Given the description of an element on the screen output the (x, y) to click on. 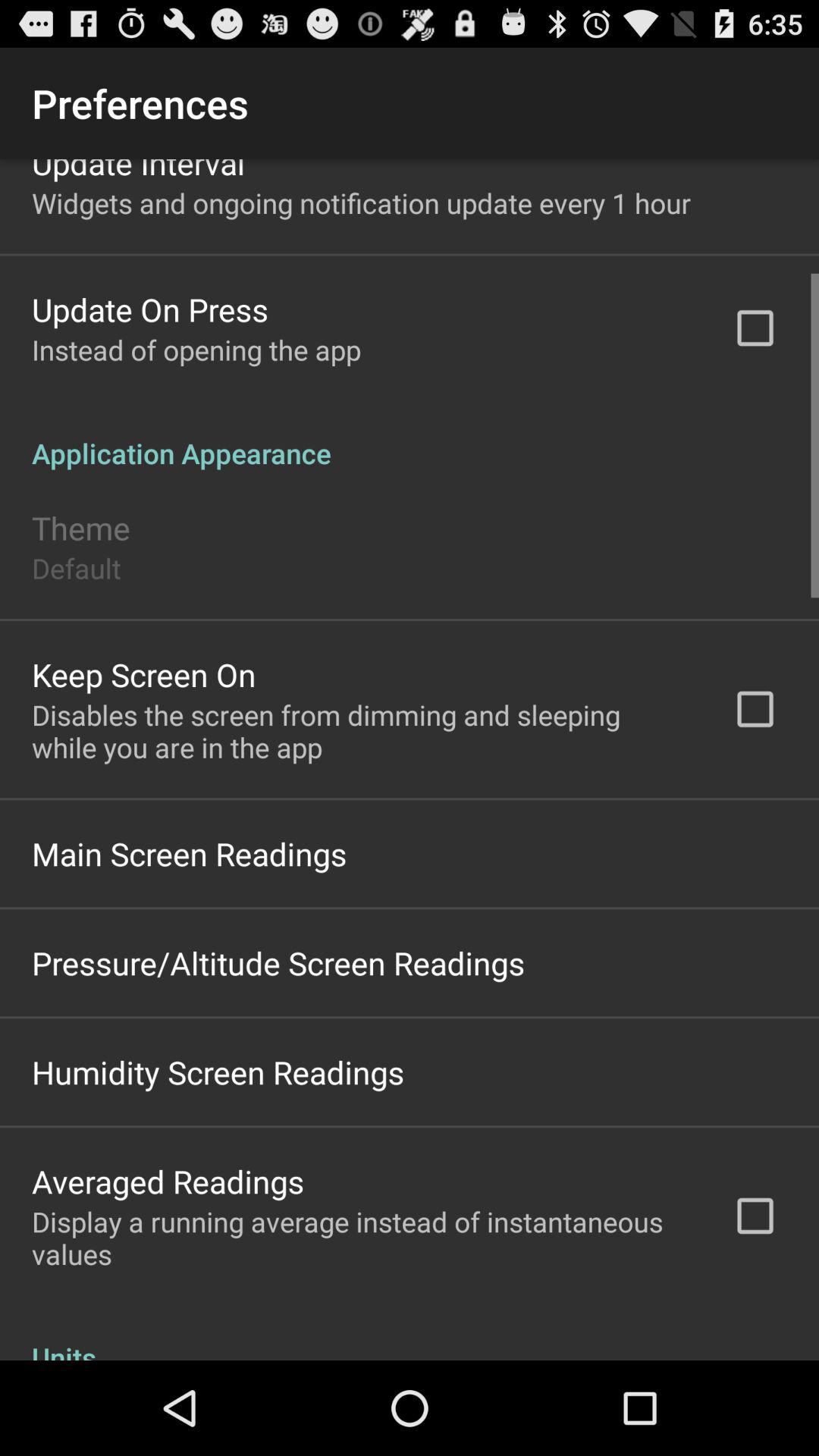
select the 2nd check box on the web page (755, 706)
